Given the description of an element on the screen output the (x, y) to click on. 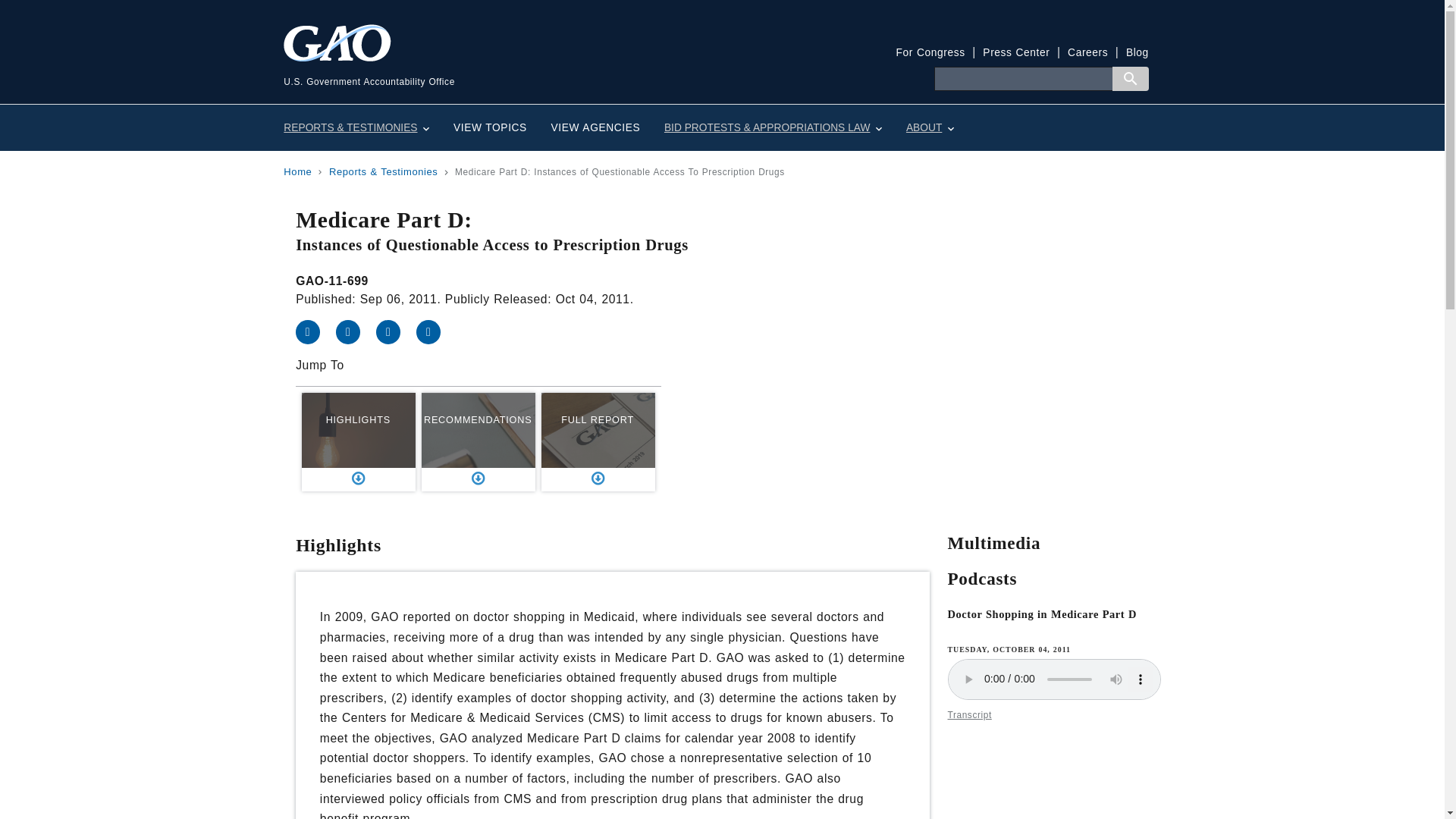
Transcript (969, 715)
RECOMMENDATIONS (478, 442)
Share on LinkedIn (395, 331)
For Congress (930, 52)
Home (297, 171)
VIEW AGENCIES (595, 127)
FULL REPORT (598, 442)
U.S. Government Accountability Office (502, 66)
ABOUT (929, 127)
Home (502, 66)
Share on Twitter (355, 331)
Press Center (1015, 52)
VIEW TOPICS (489, 127)
Share by email (434, 331)
HIGHLIGHTS (357, 442)
